Given the description of an element on the screen output the (x, y) to click on. 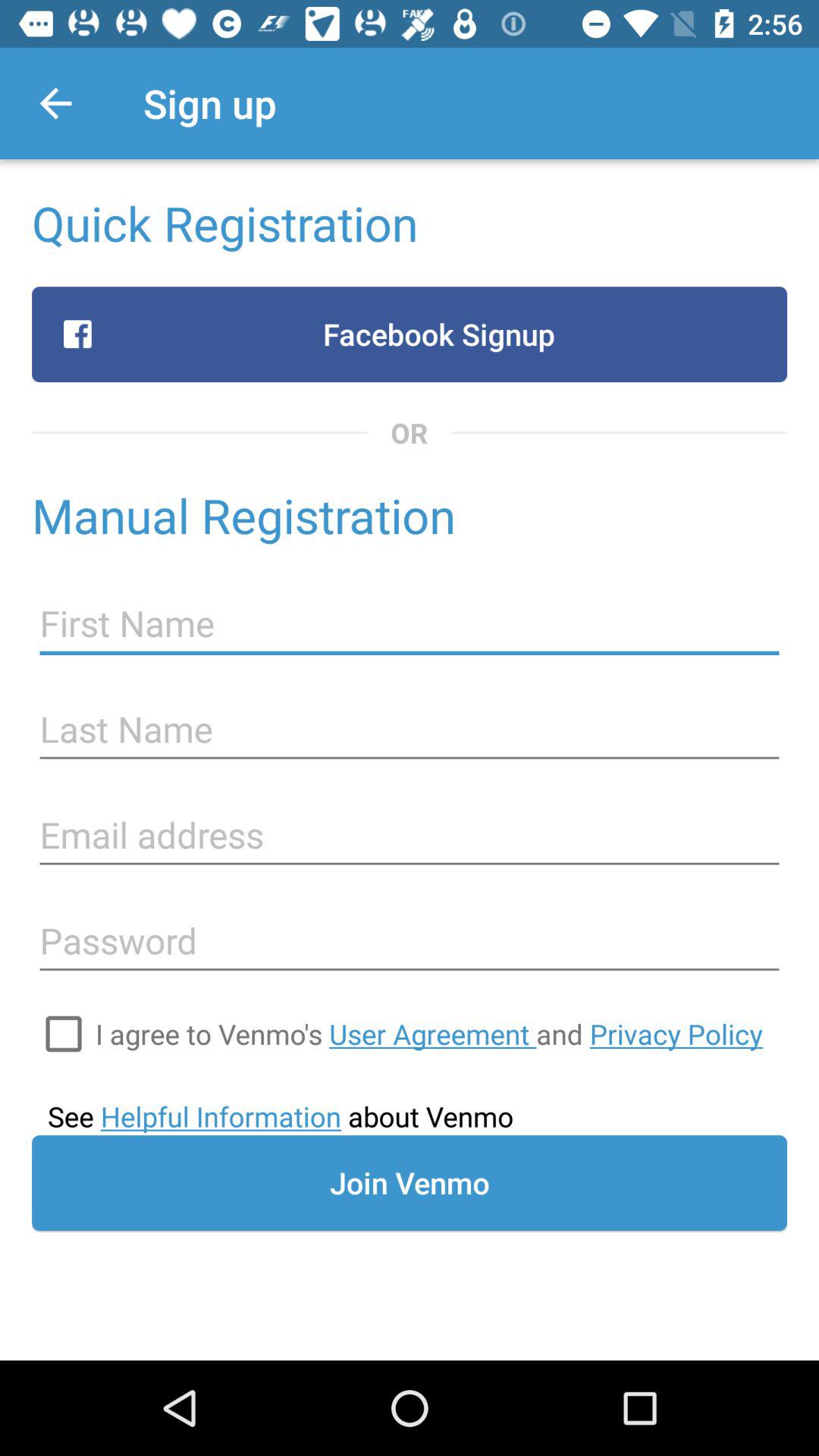
swipe until the join venmo item (409, 1182)
